Given the description of an element on the screen output the (x, y) to click on. 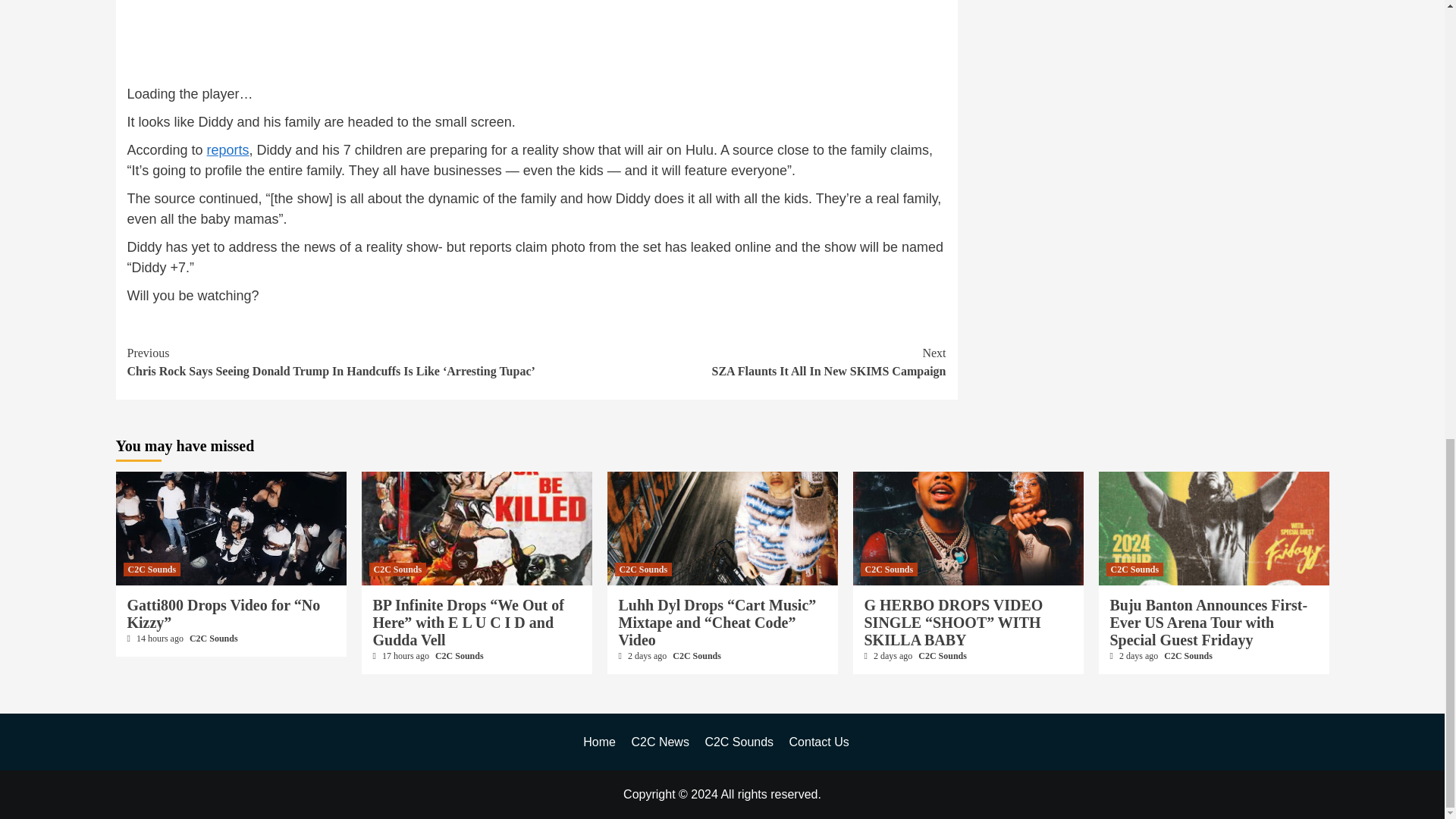
C2C Sounds (213, 638)
C2C Sounds (741, 361)
C2C Sounds (151, 569)
C2C Sounds (397, 569)
reports (459, 655)
